Given the description of an element on the screen output the (x, y) to click on. 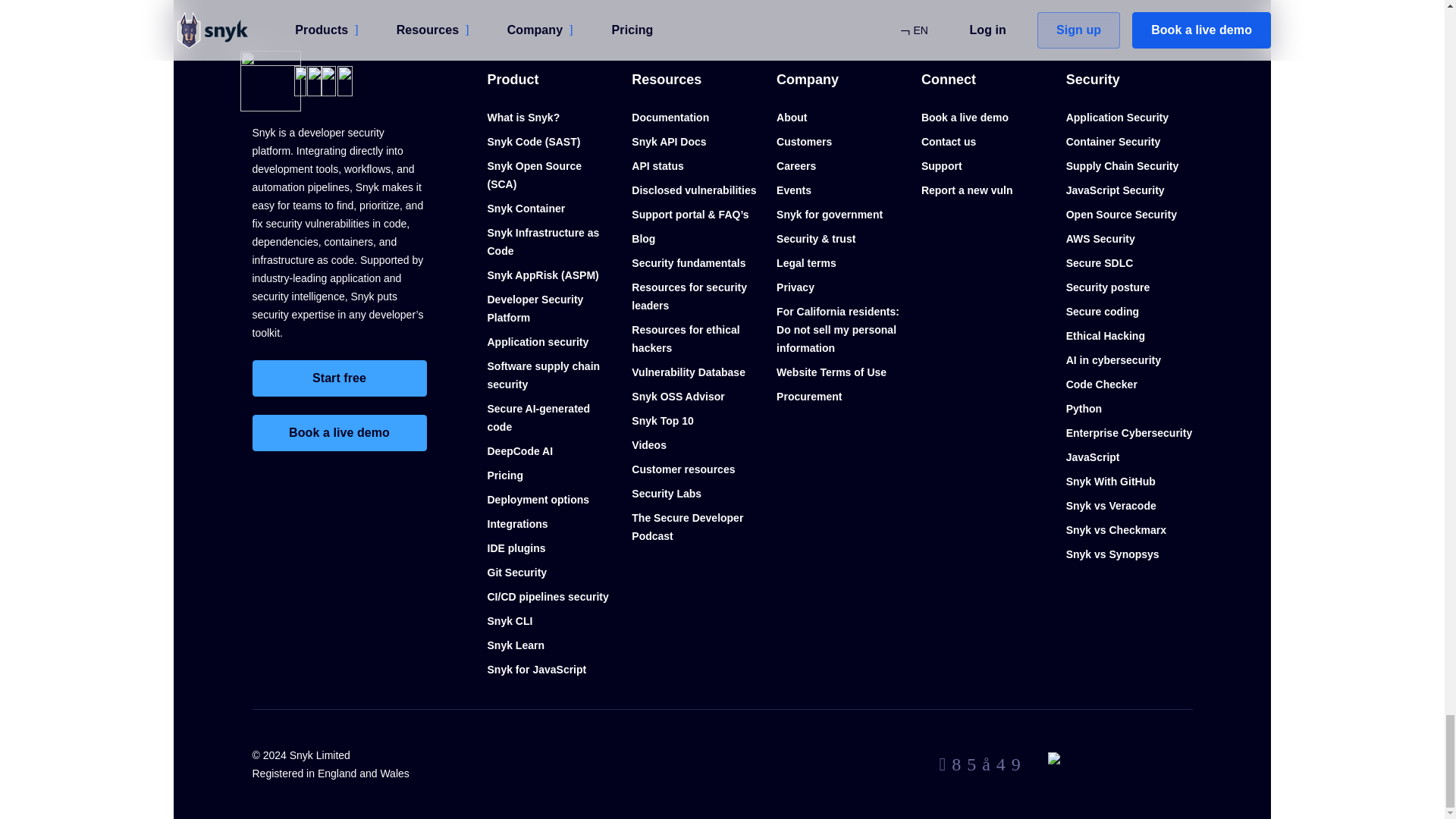
Start free (338, 378)
Book a live demo (338, 432)
